Given the description of an element on the screen output the (x, y) to click on. 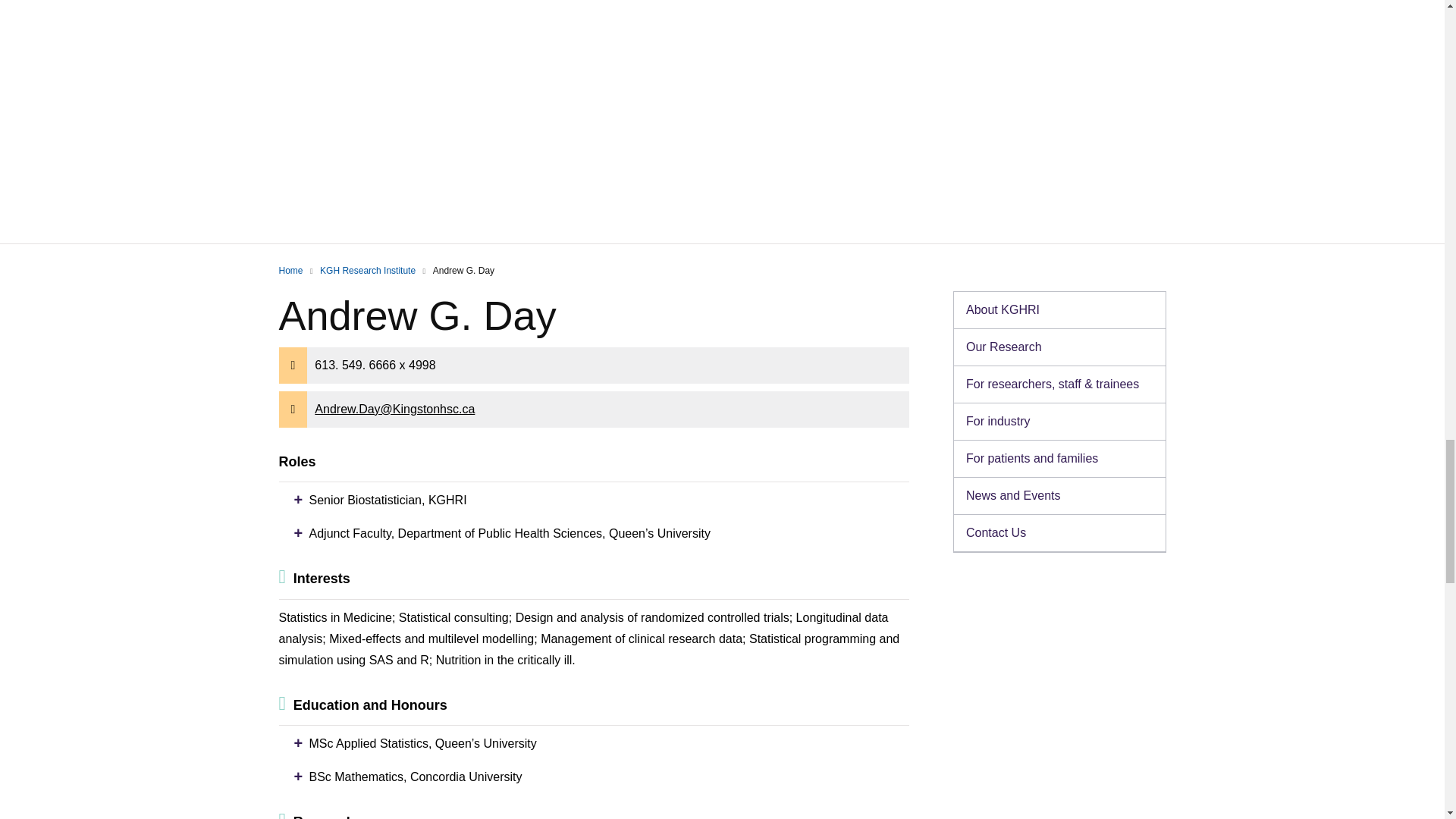
Our Research (1059, 347)
updated HOD list (1059, 384)
